Given the description of an element on the screen output the (x, y) to click on. 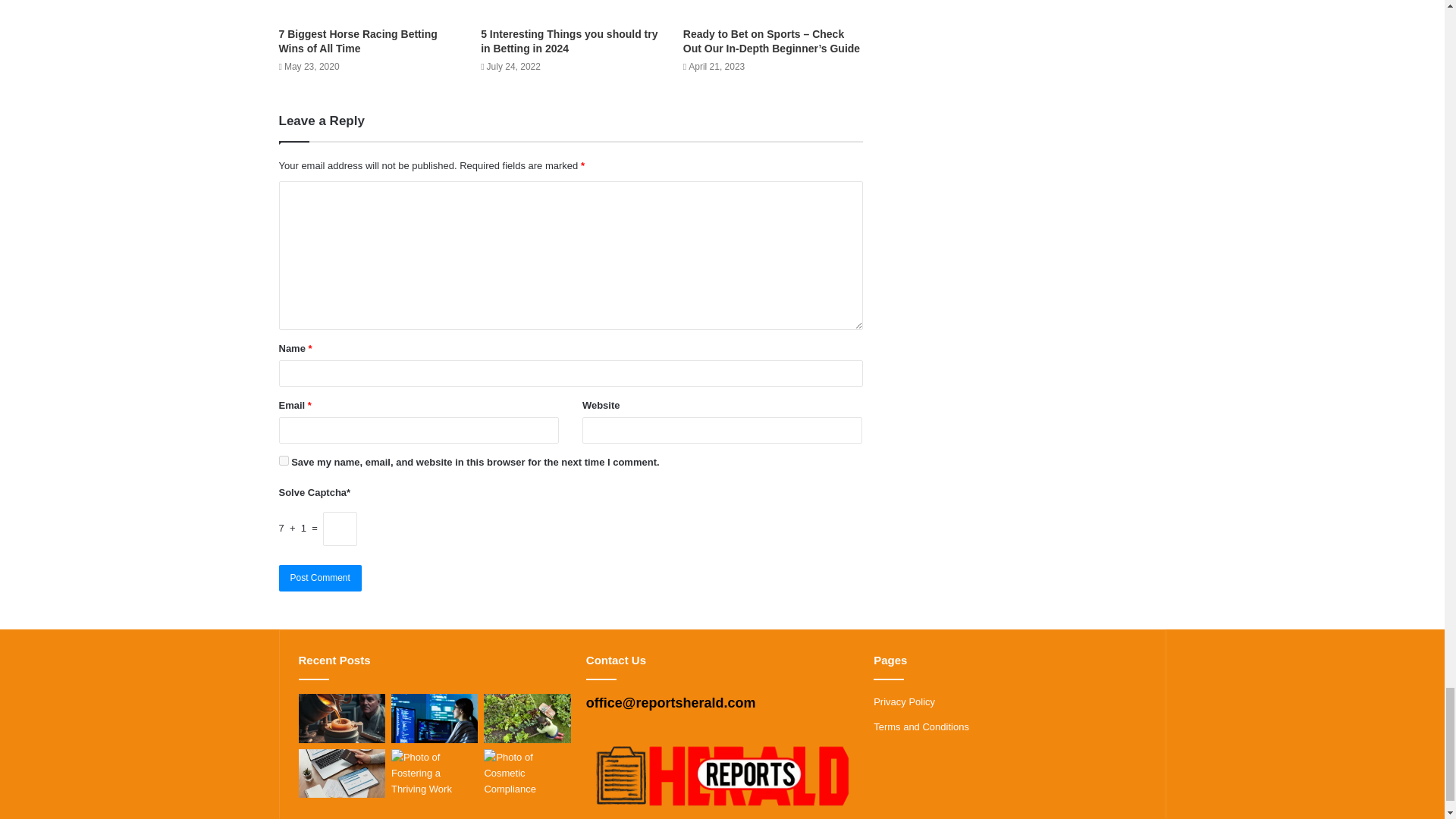
yes (283, 460)
Post Comment (320, 578)
7 Biggest Horse Racing Betting Wins of All Time (358, 40)
5 Interesting Things you should try in Betting in 2024 (569, 40)
